Given the description of an element on the screen output the (x, y) to click on. 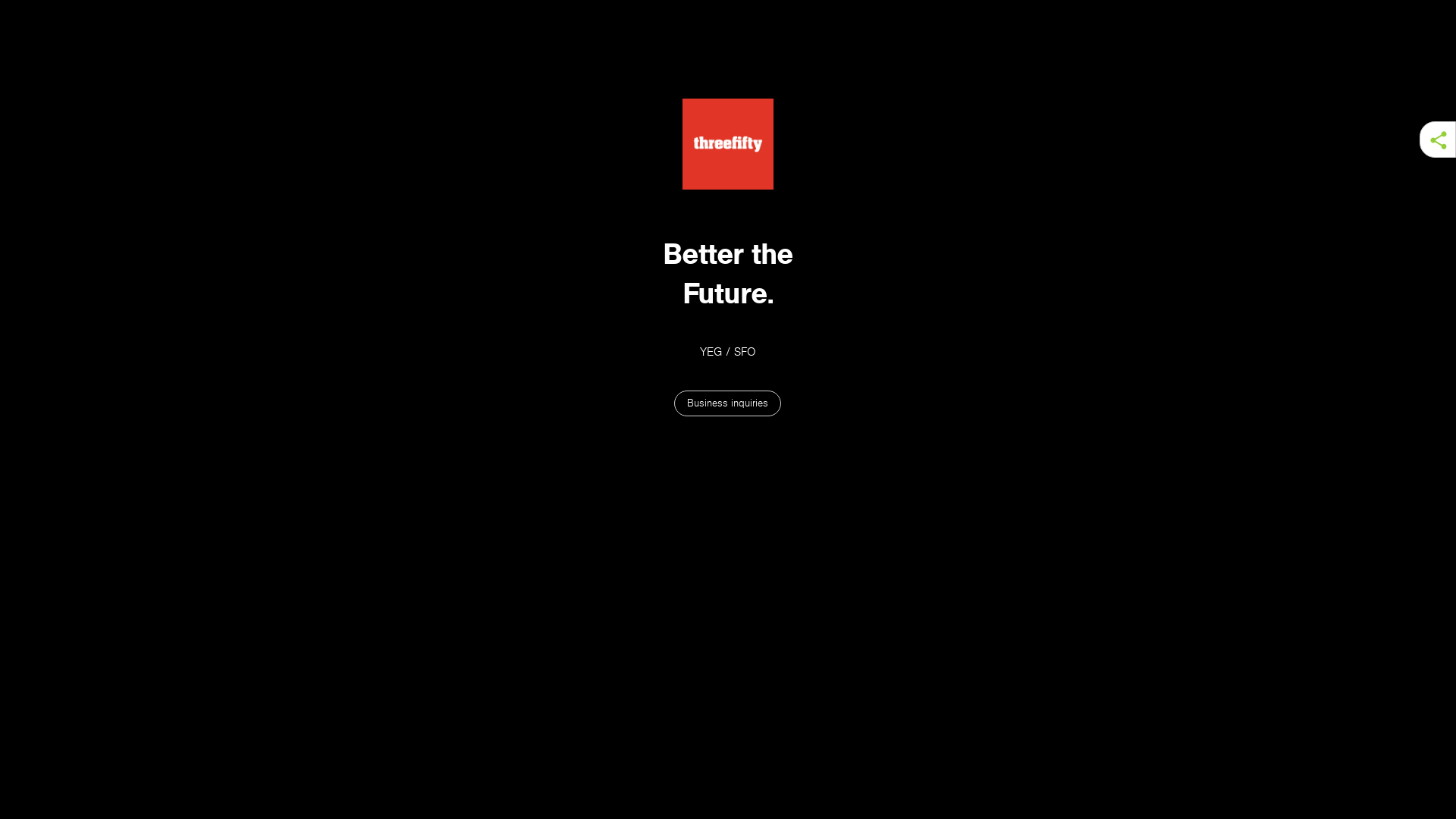
Business inquiries Element type: text (727, 403)
